Given the description of an element on the screen output the (x, y) to click on. 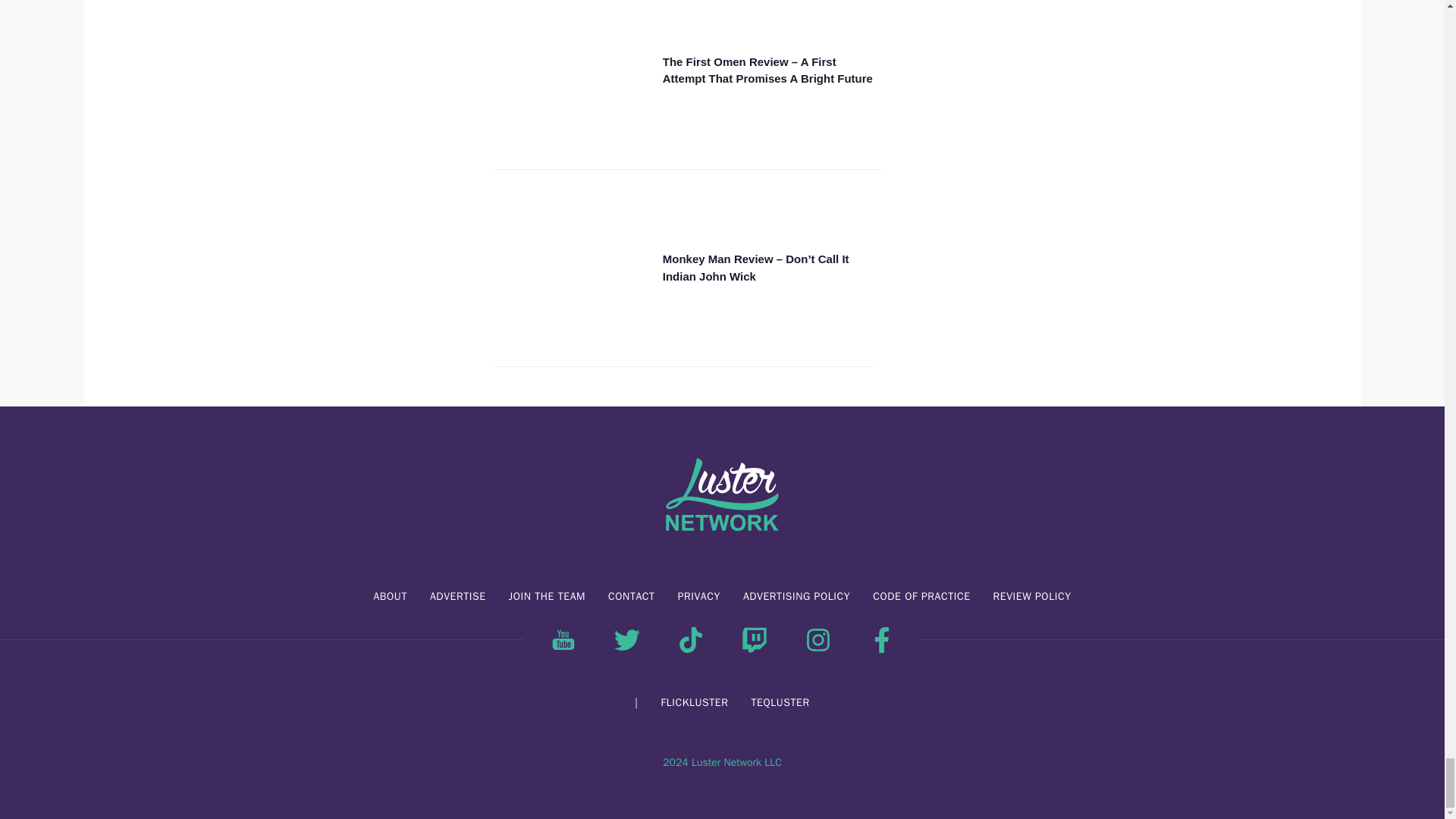
Network Luster Banner White (722, 496)
